Given the description of an element on the screen output the (x, y) to click on. 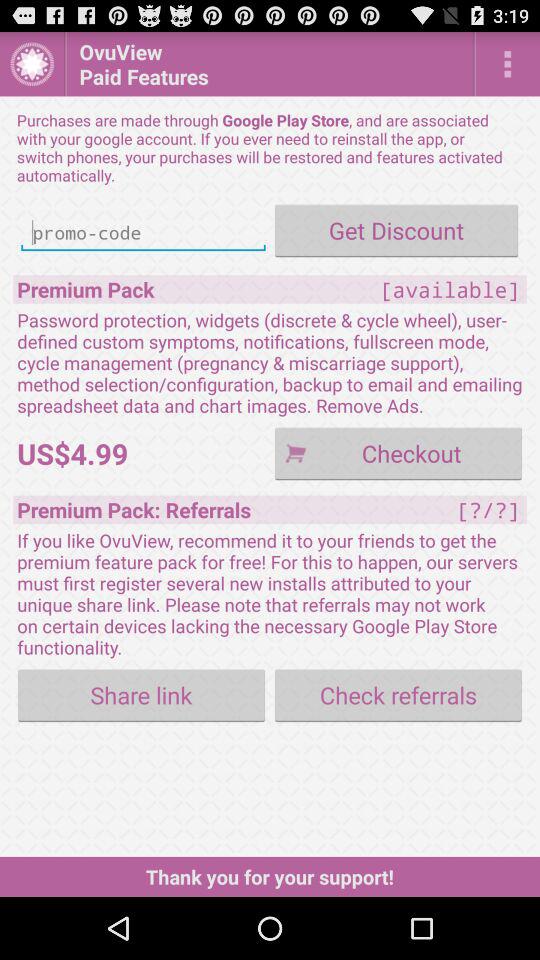
turn off the app above the premium pack: referrals app (398, 452)
